Given the description of an element on the screen output the (x, y) to click on. 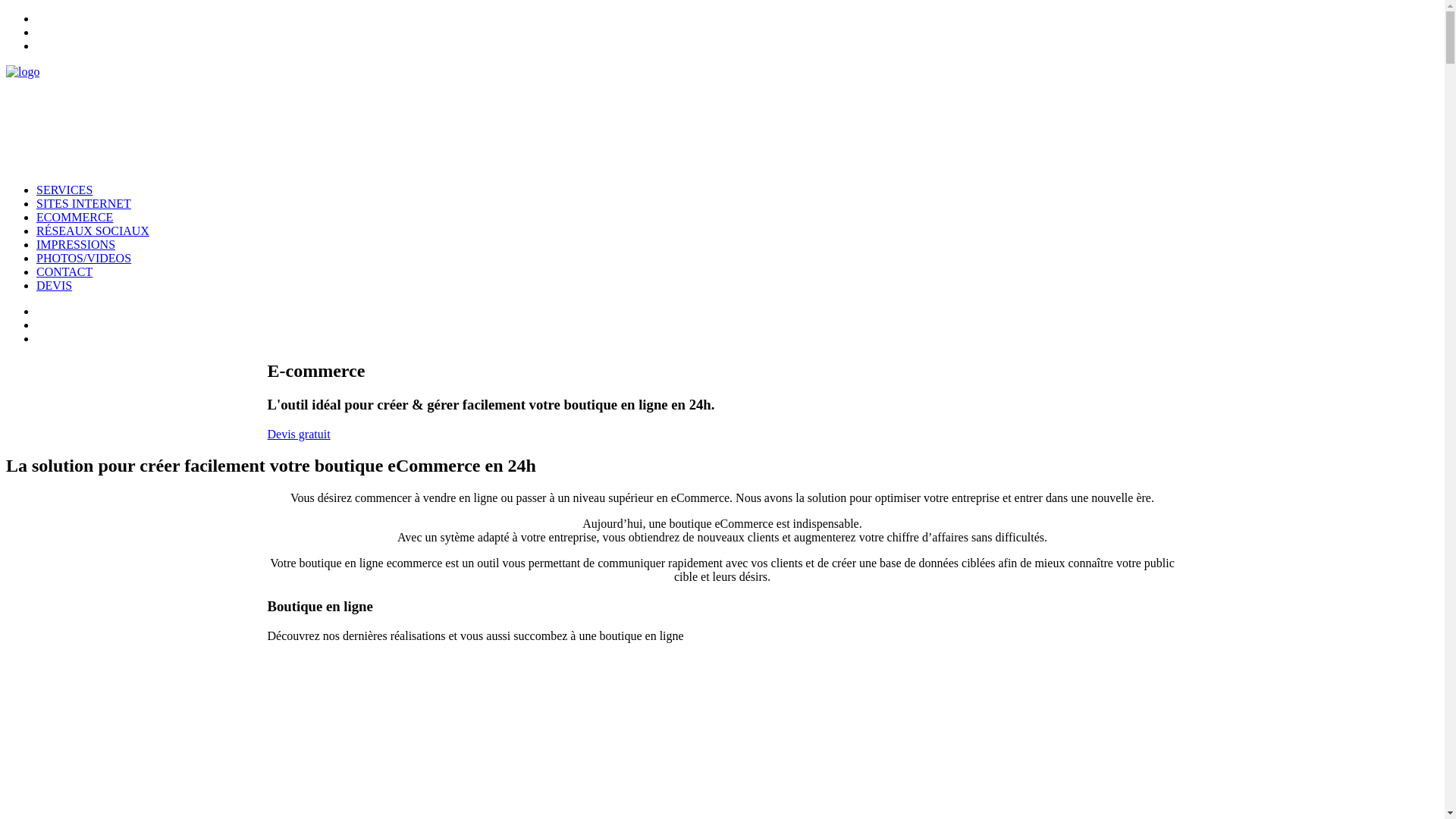
PHOTOS/VIDEOS Element type: text (83, 257)
DEVIS Element type: text (54, 285)
ECOMMERCE Element type: text (74, 216)
SERVICES Element type: text (64, 189)
CONTACT Element type: text (64, 271)
SITES INTERNET Element type: text (83, 203)
Devis gratuit Element type: text (297, 433)
IMPRESSIONS Element type: text (75, 244)
